Given the description of an element on the screen output the (x, y) to click on. 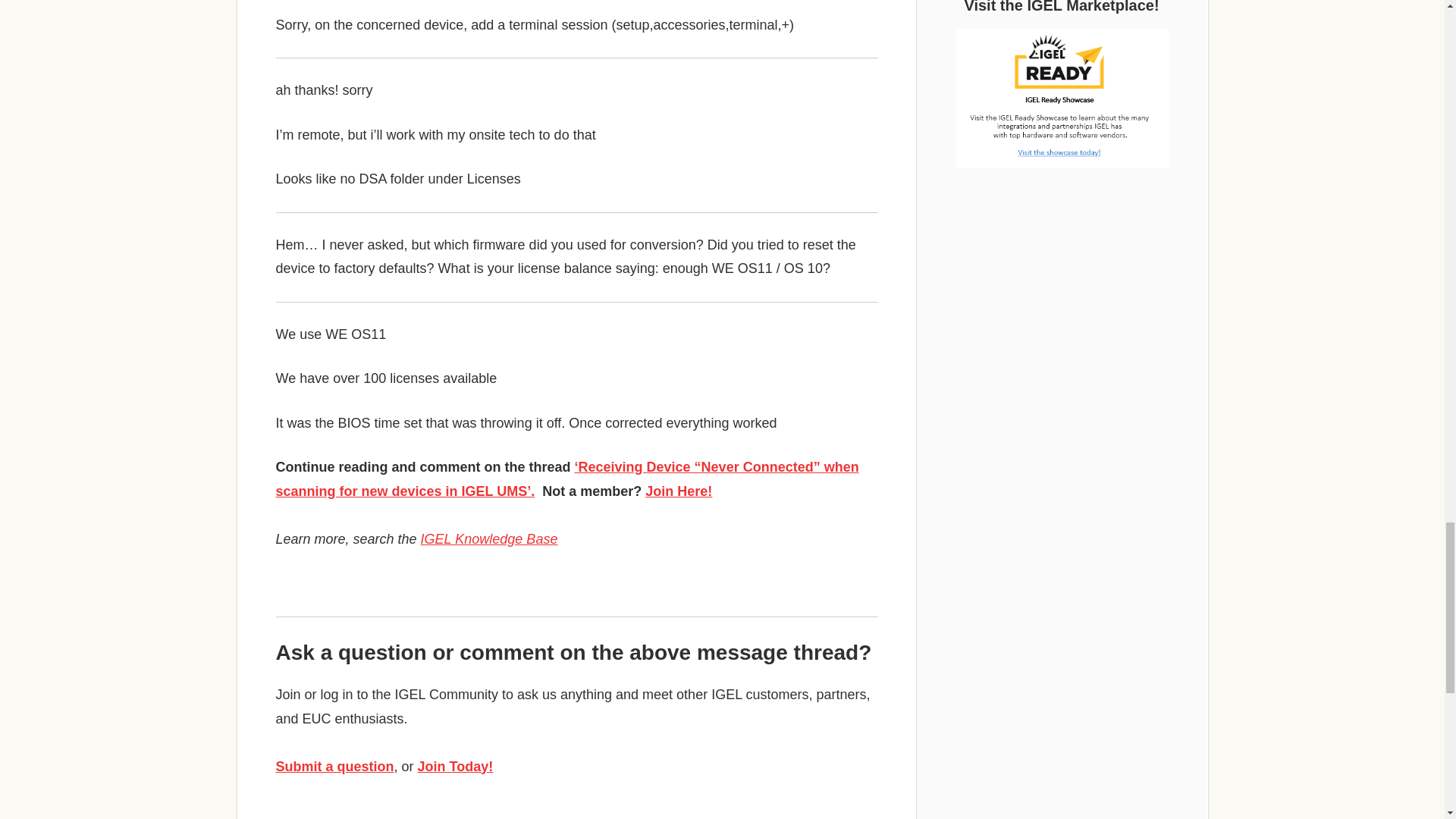
Visit the IGEL Marketplace! (1062, 98)
